Given the description of an element on the screen output the (x, y) to click on. 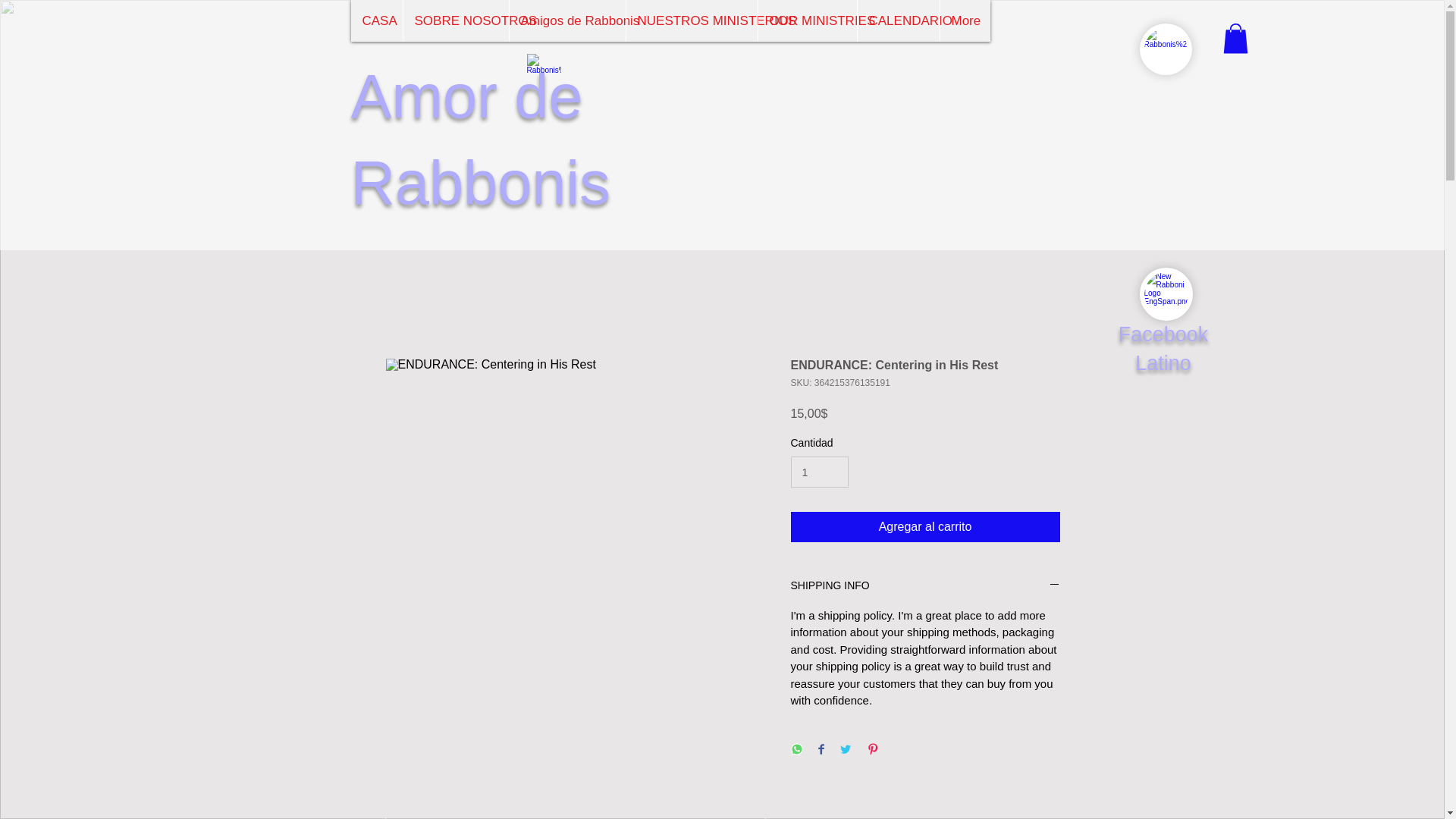
NUESTROS MINISTERIOS (690, 20)
Amigos de Rabbonis (566, 20)
CALENDARIO (898, 20)
Agregar al carrito (924, 526)
1 (818, 471)
SOBRE NOSOTROS (454, 20)
CASA (375, 20)
SHIPPING INFO (924, 586)
